Given the description of an element on the screen output the (x, y) to click on. 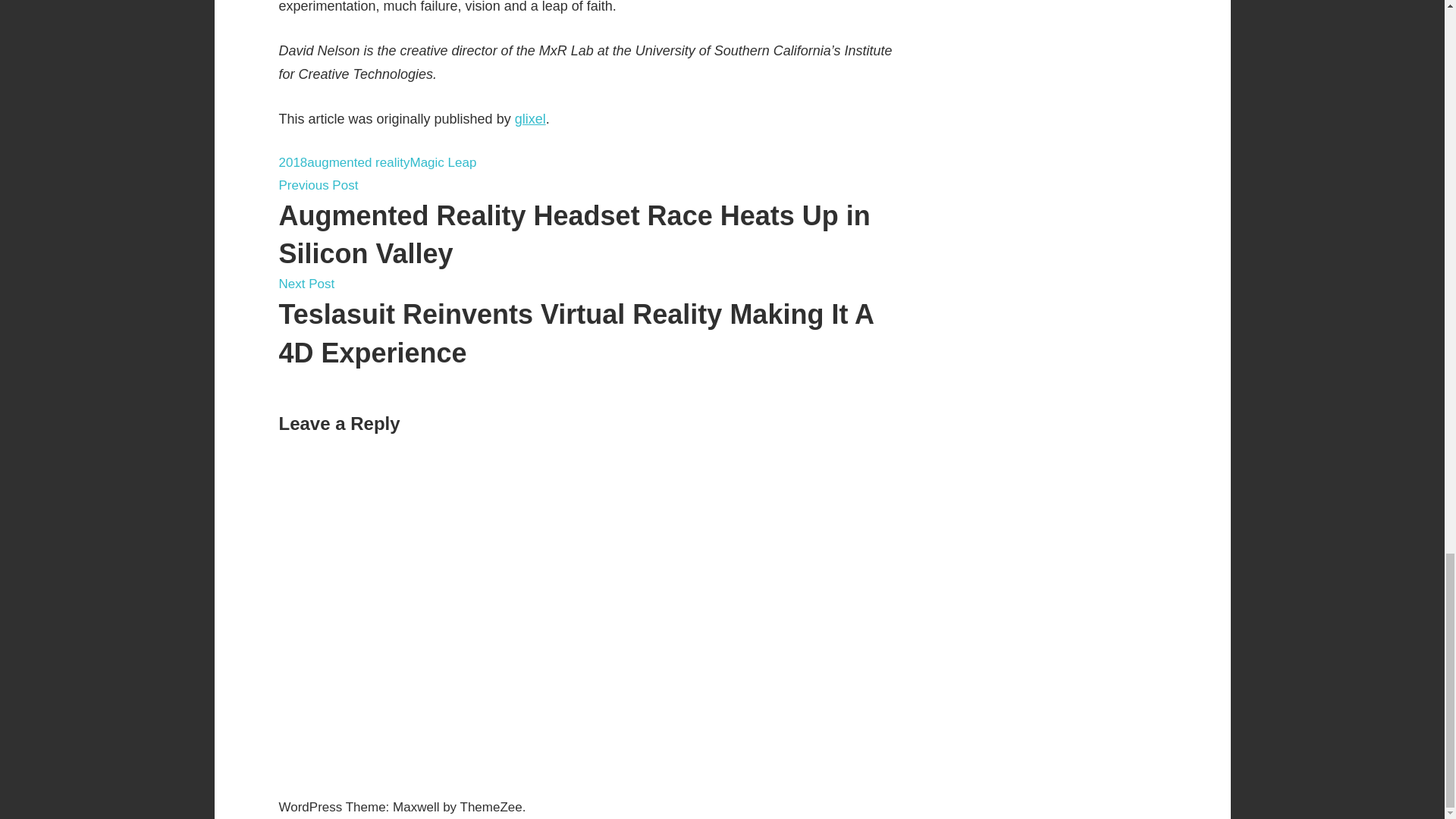
2018 (293, 162)
Magic Leap (442, 162)
augmented reality (358, 162)
glixel (530, 118)
